Given the description of an element on the screen output the (x, y) to click on. 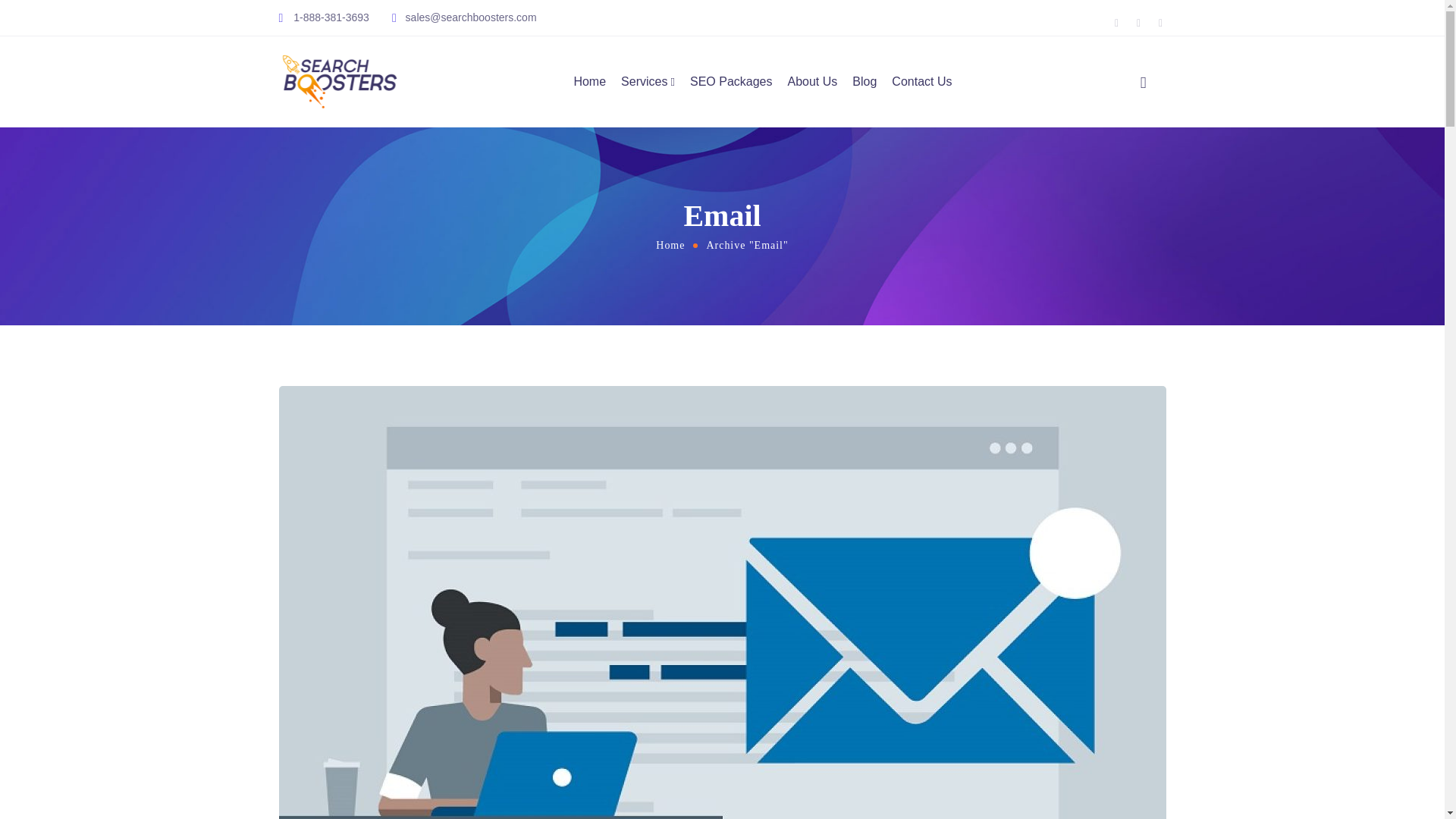
Search (1128, 123)
About Us (812, 81)
1-888-381-3693 (329, 17)
Services (648, 81)
Home (589, 81)
Home (670, 244)
SEO Packages (731, 81)
Blog (863, 81)
Contact Us (921, 81)
